Given the description of an element on the screen output the (x, y) to click on. 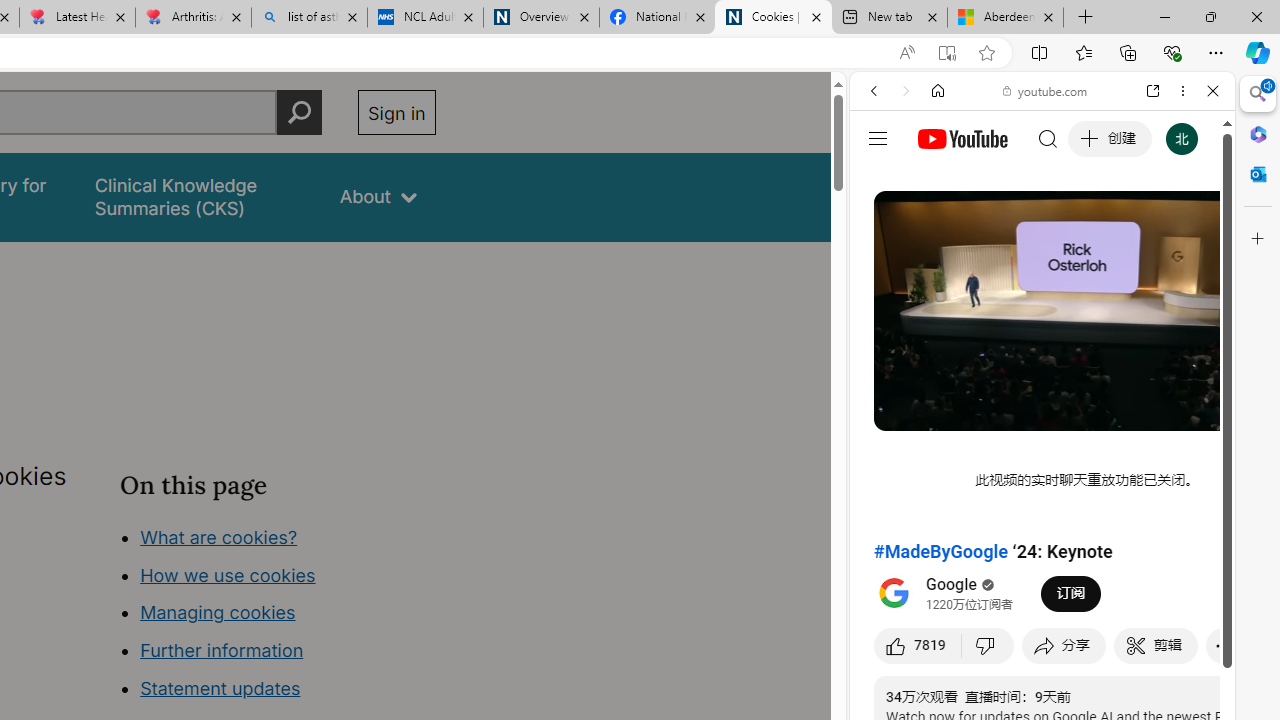
About (378, 196)
Class: ytp-subtitles-button-icon (1127, 412)
Trailer #2 [HD] (1042, 592)
Sign in (396, 112)
Search the web (1051, 137)
Statement updates (219, 688)
#you (1042, 445)
